Given the description of an element on the screen output the (x, y) to click on. 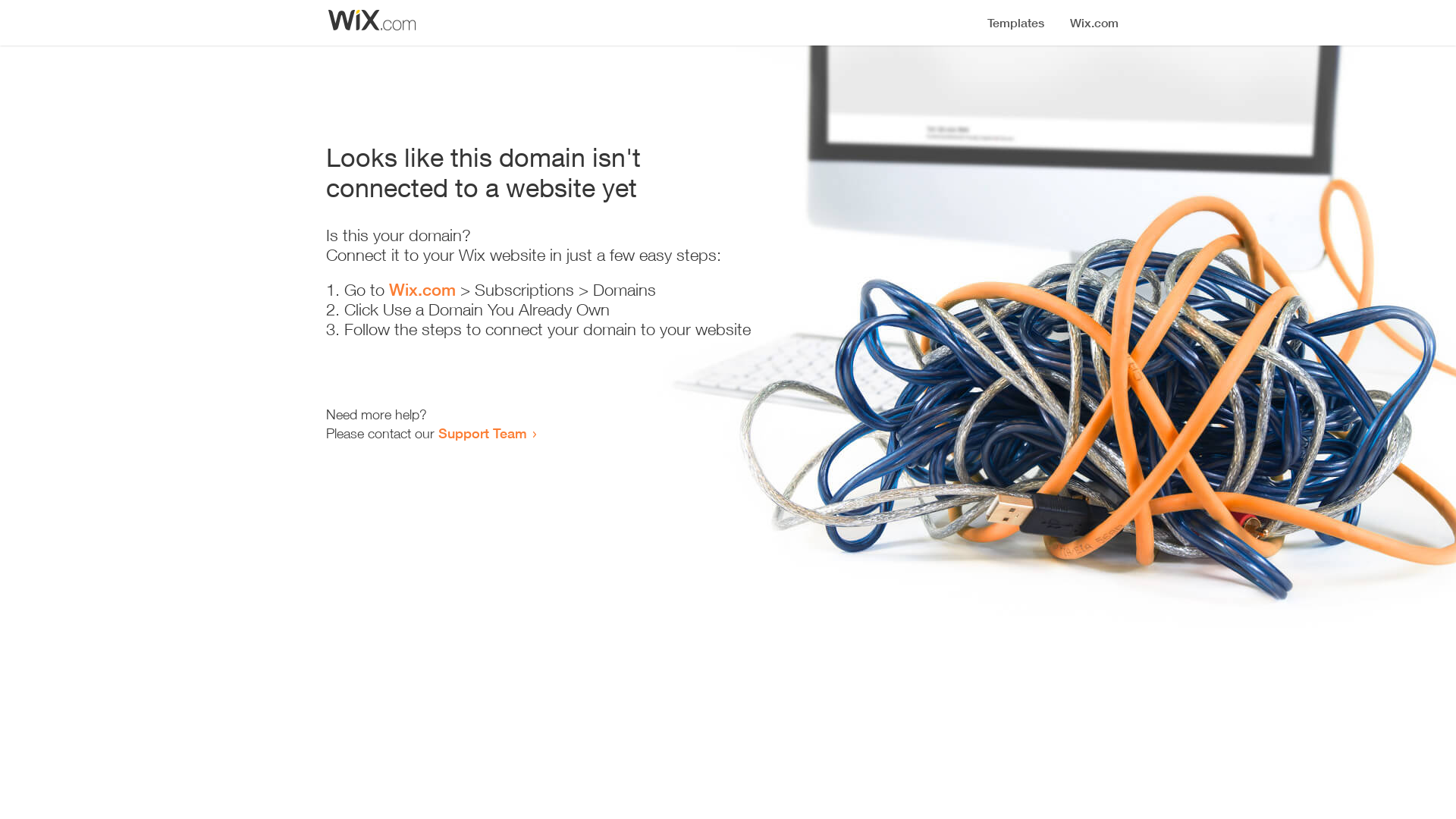
Support Team Element type: text (482, 432)
Wix.com Element type: text (422, 289)
